Given the description of an element on the screen output the (x, y) to click on. 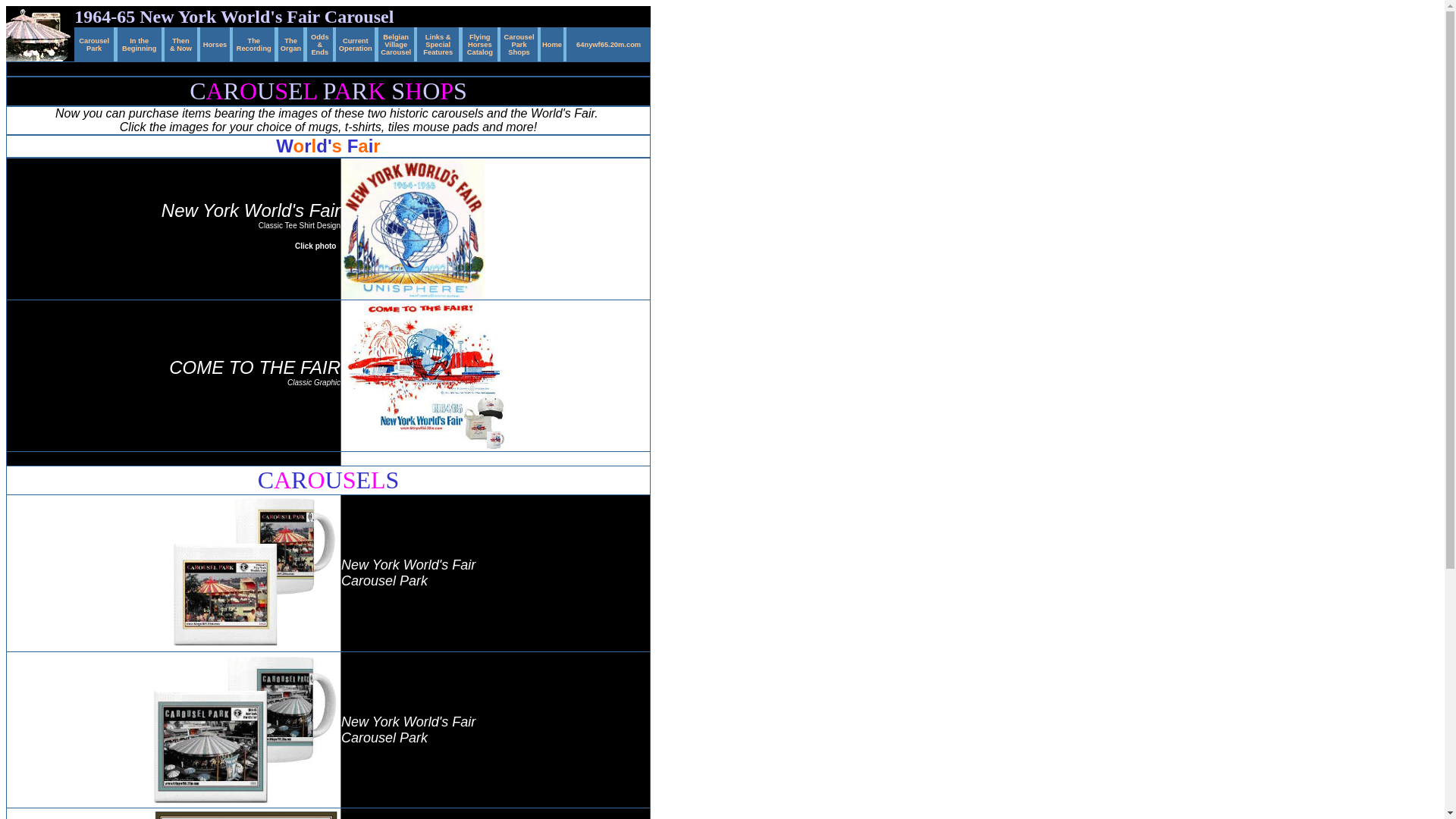
Links & Special Features Element type: text (437, 42)
Carousel
Park Element type: text (93, 42)
The
Recording Element type: text (253, 42)
Carousel Park
Shops Element type: text (519, 42)
Odds
&
Ends Element type: text (319, 42)
Home Element type: text (551, 42)
Current Operation Element type: text (355, 42)
64nywf65.20m.com Element type: text (608, 42)
Horses Element type: text (215, 42)
In the Beginning Element type: text (139, 42)
Then
& Now Element type: text (180, 42)
Flying Horses
Catalog Element type: text (479, 42)
The Organ Element type: text (290, 42)
Belgian Village
Carousel Element type: text (395, 42)
